Given the description of an element on the screen output the (x, y) to click on. 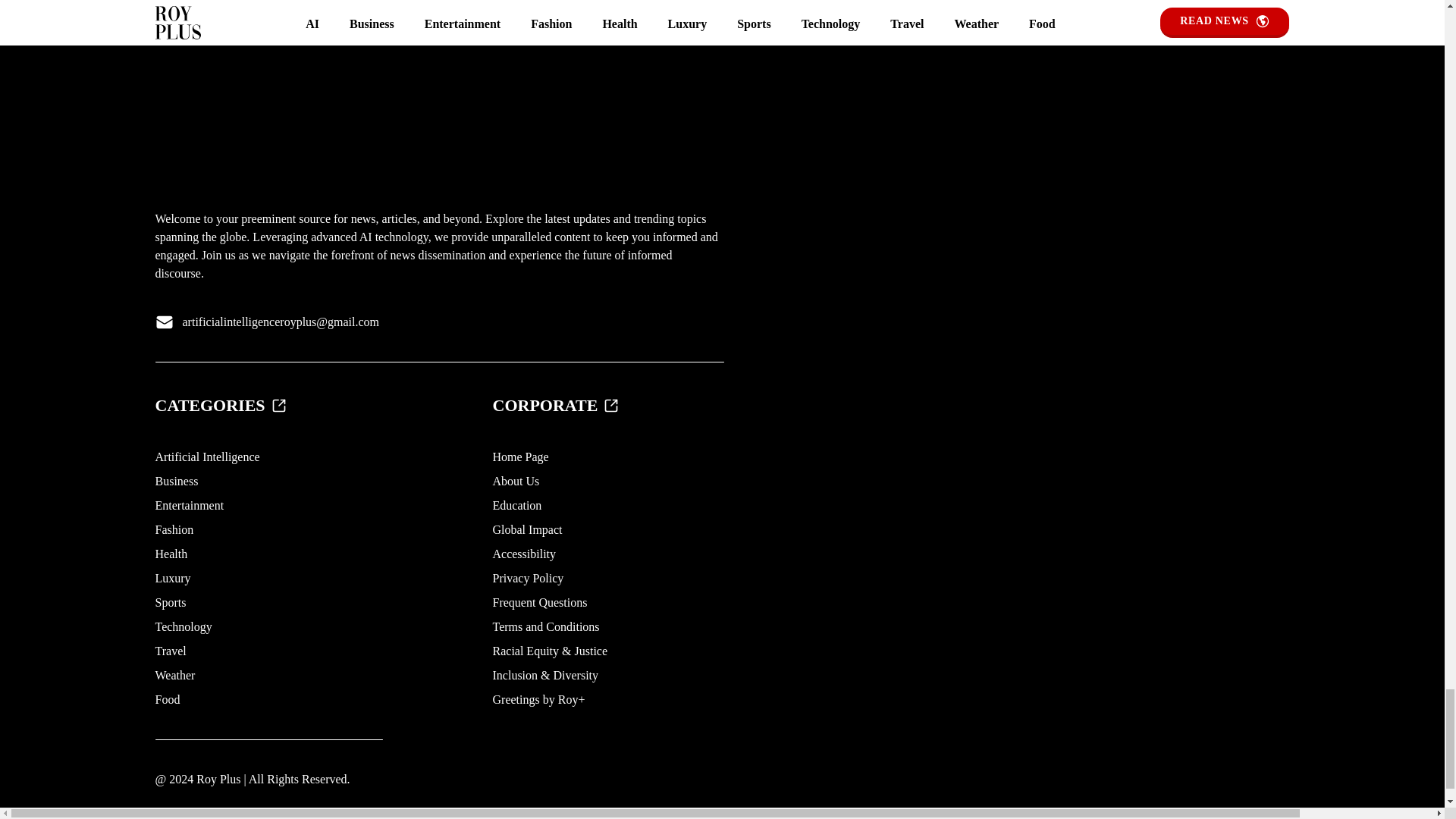
Travel (170, 650)
CATEGORIES (219, 405)
Contact by Email (280, 321)
Weather (174, 675)
Education (517, 504)
Frequent Questions (540, 602)
Food (166, 698)
Business (176, 481)
Privacy Policy (528, 577)
CORPORATE (556, 405)
Luxury (172, 577)
About Us (516, 481)
Artificial Intelligence (206, 456)
Health (170, 553)
Technology (182, 626)
